Given the description of an element on the screen output the (x, y) to click on. 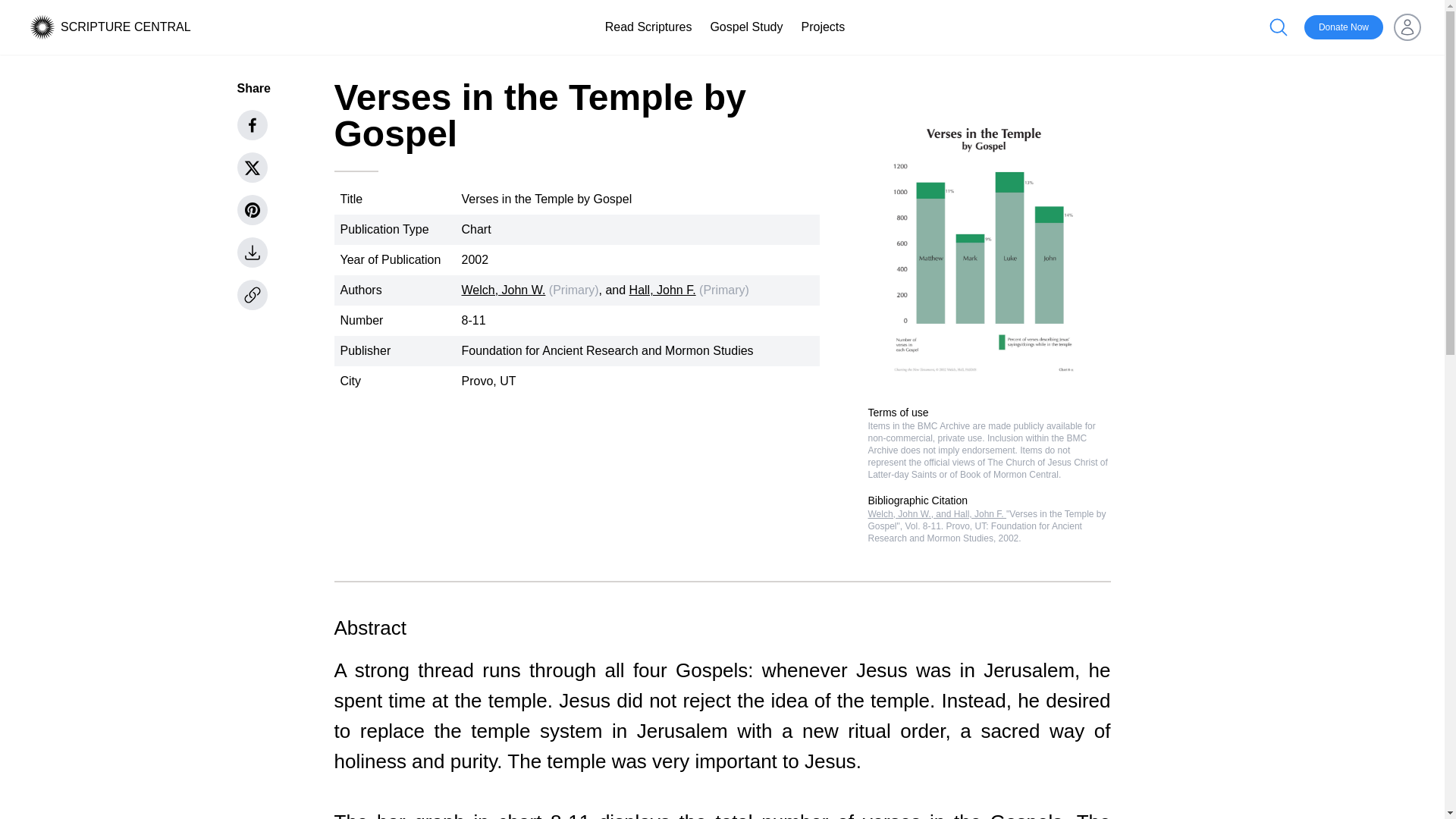
Gospel Study (746, 27)
Gospel Study (746, 26)
SCRIPTURE CENTRAL (125, 27)
Hall, John F. (661, 289)
Projects (822, 26)
Welch, John W. (502, 289)
Open user menu (1406, 27)
Donate Now (1343, 27)
Read Scriptures (649, 27)
Read Scriptures (649, 26)
